Given the description of an element on the screen output the (x, y) to click on. 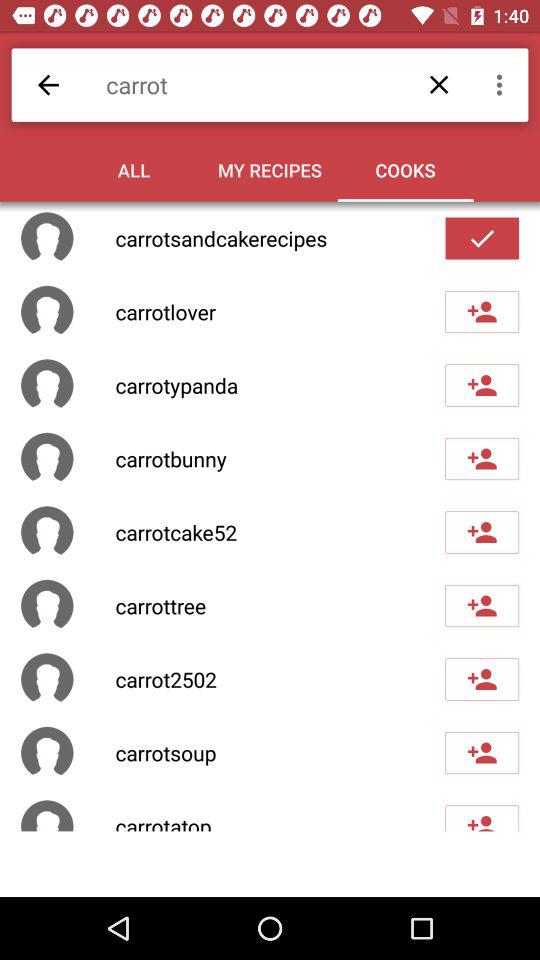
add to favorites (482, 238)
